Given the description of an element on the screen output the (x, y) to click on. 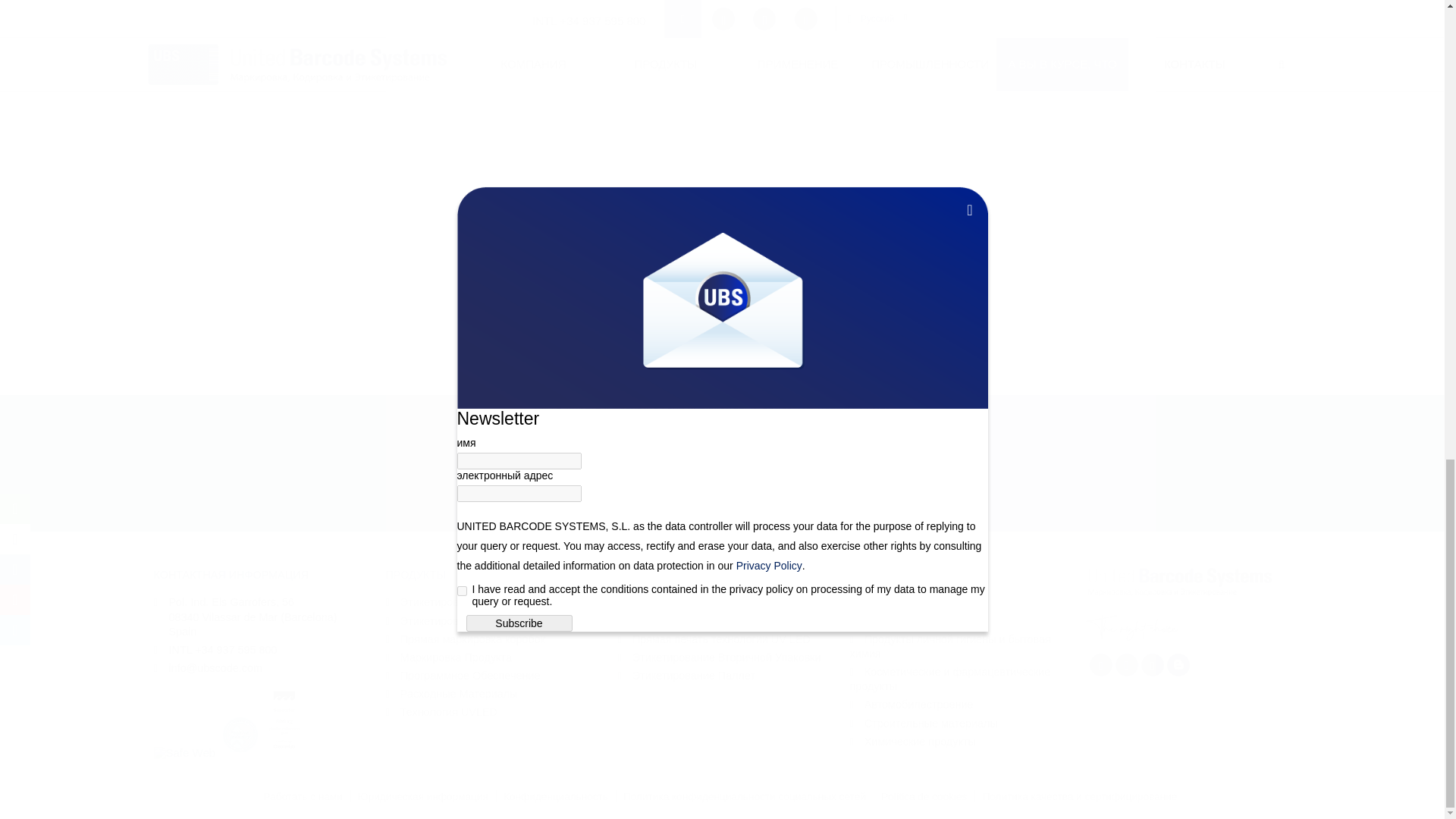
UBS. United Barcode Systems. The right choice (1185, 603)
